Given the description of an element on the screen output the (x, y) to click on. 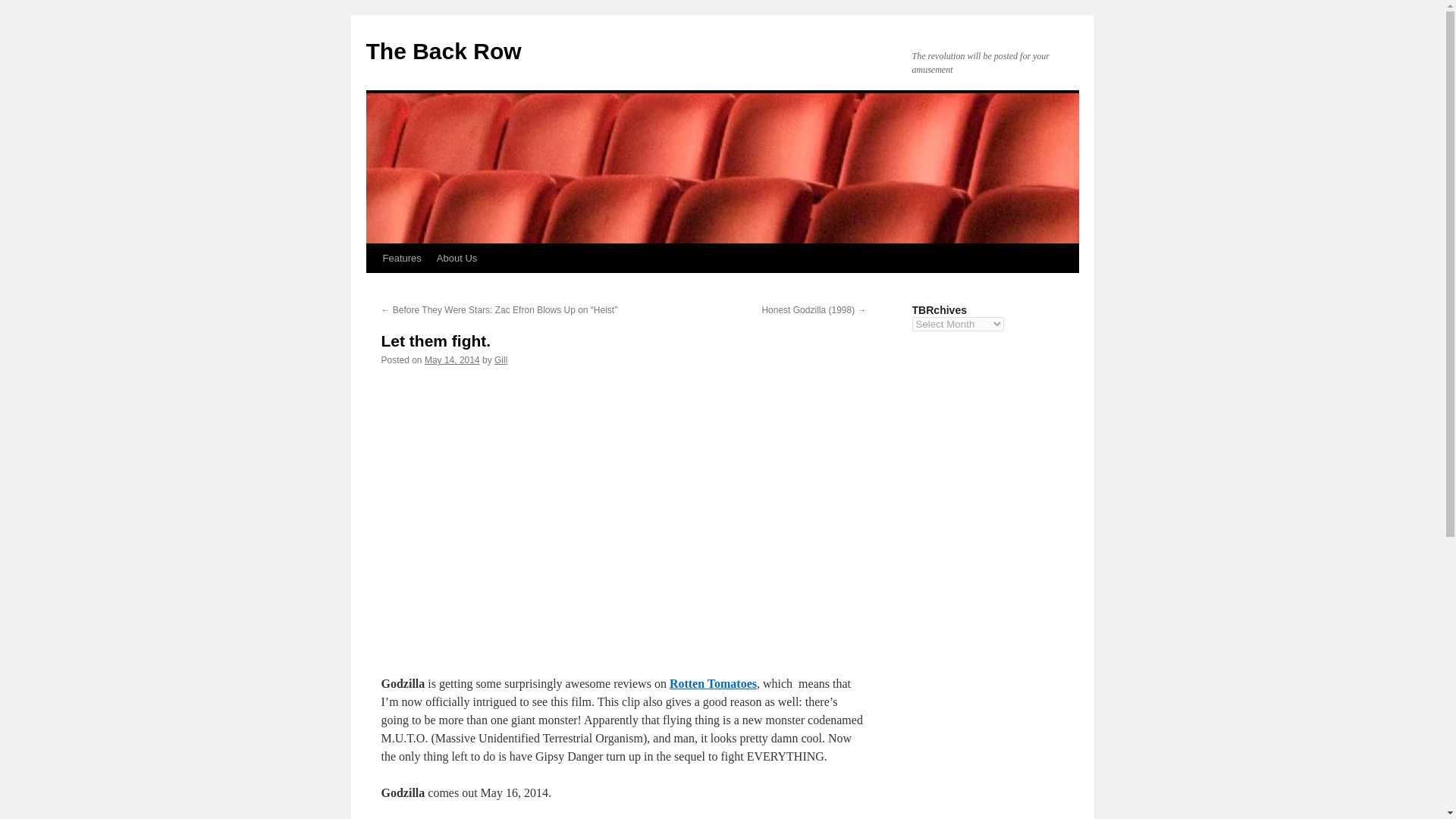
About Us (456, 258)
The Back Row (443, 50)
Gill (500, 359)
May 14, 2014 (452, 359)
View all posts by Gill (500, 359)
Rotten Tomatoes (713, 683)
Features (401, 258)
1:00 pm (452, 359)
